Given the description of an element on the screen output the (x, y) to click on. 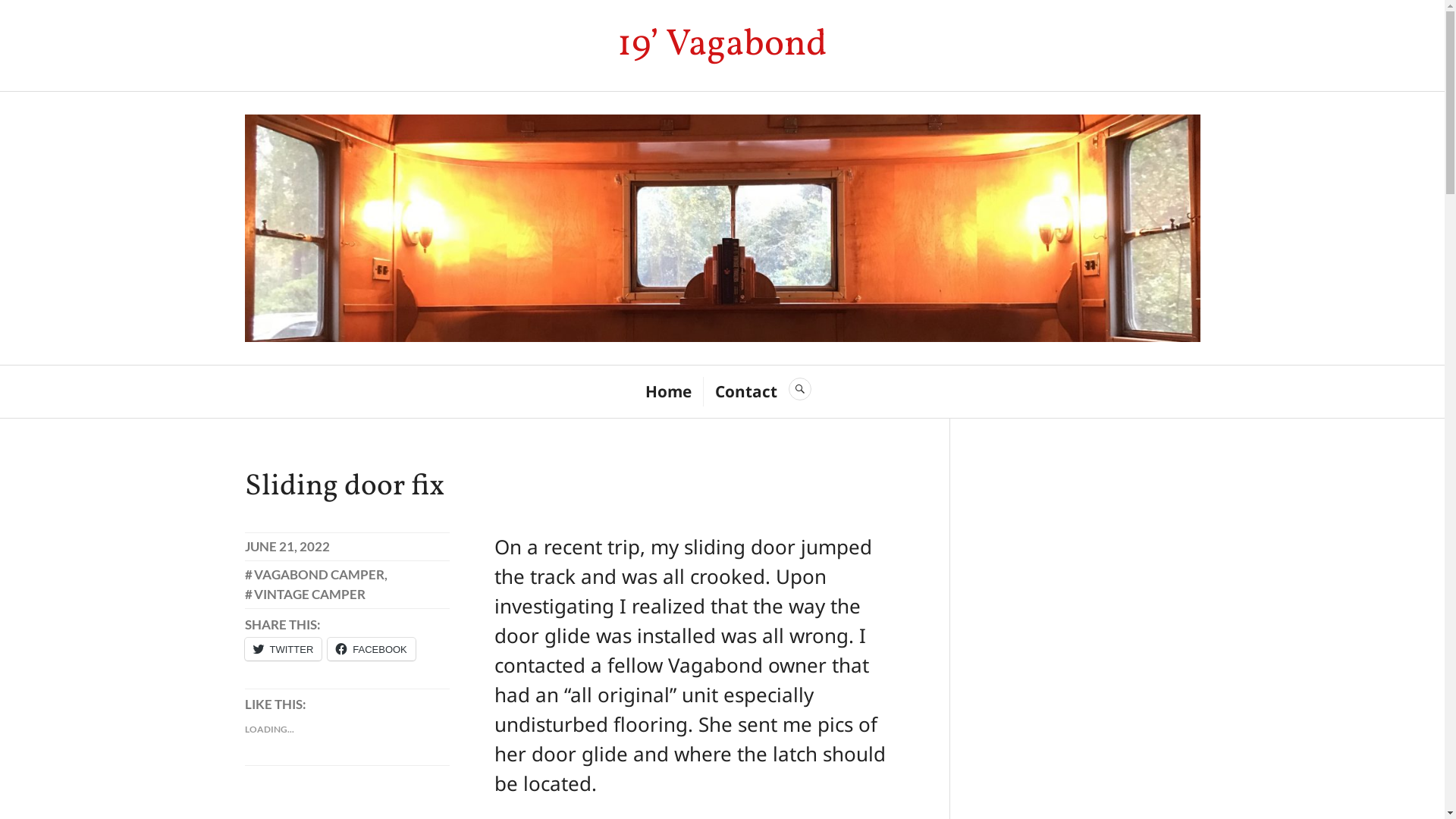
Home Element type: text (667, 391)
VINTAGE CAMPER Element type: text (304, 594)
TWITTER Element type: text (282, 648)
VAGABOND CAMPER Element type: text (313, 574)
Contact Element type: text (745, 391)
JUNE 21, 2022 Element type: text (286, 546)
KNIT IN YOUR PANTS Element type: text (264, 576)
FACEBOOK Element type: text (371, 648)
